Given the description of an element on the screen output the (x, y) to click on. 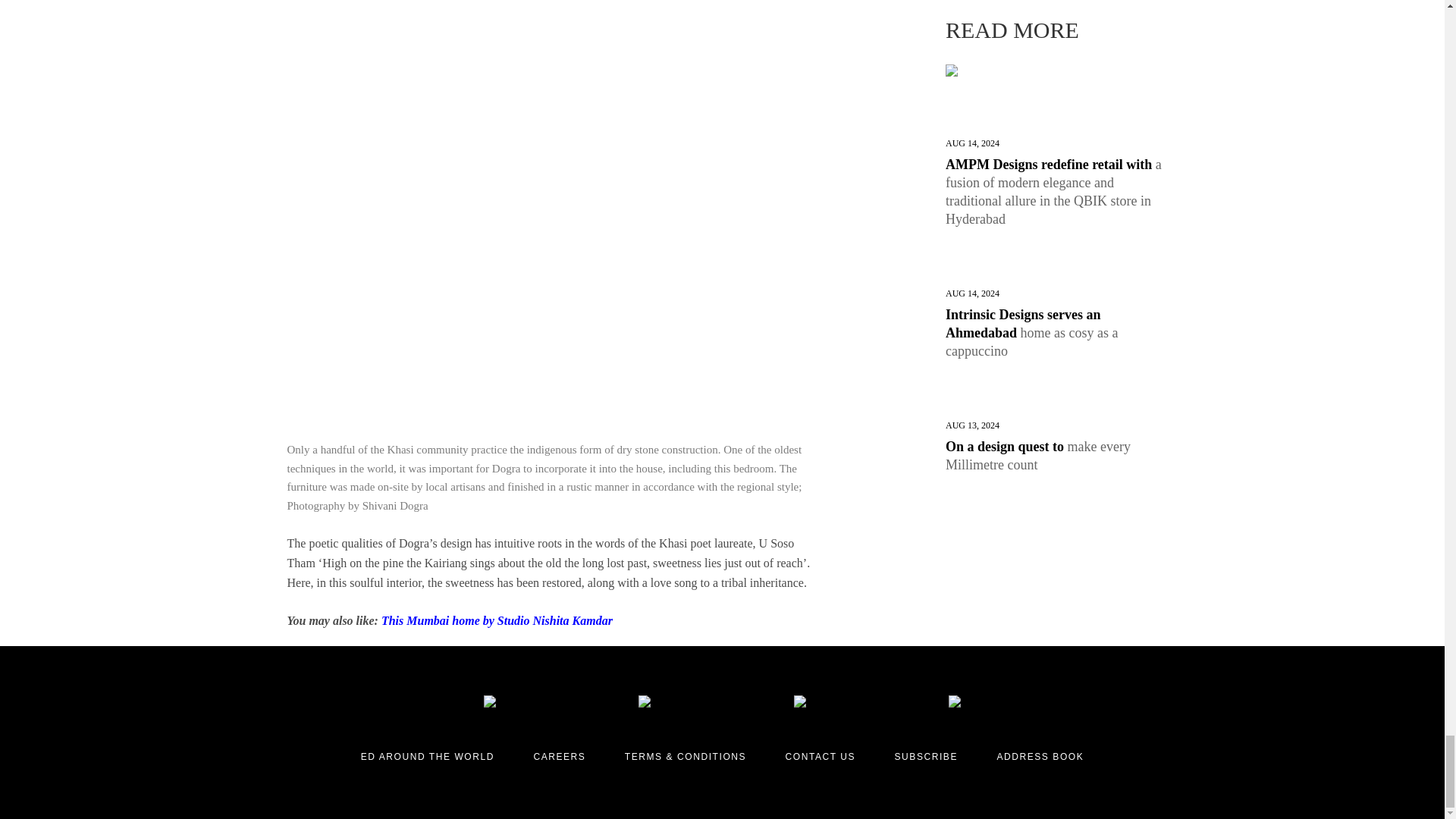
This Mumbai home by Studio Nishita Kamdar (496, 620)
ED AROUND THE WORLD (428, 756)
CAREERS (558, 756)
